Given the description of an element on the screen output the (x, y) to click on. 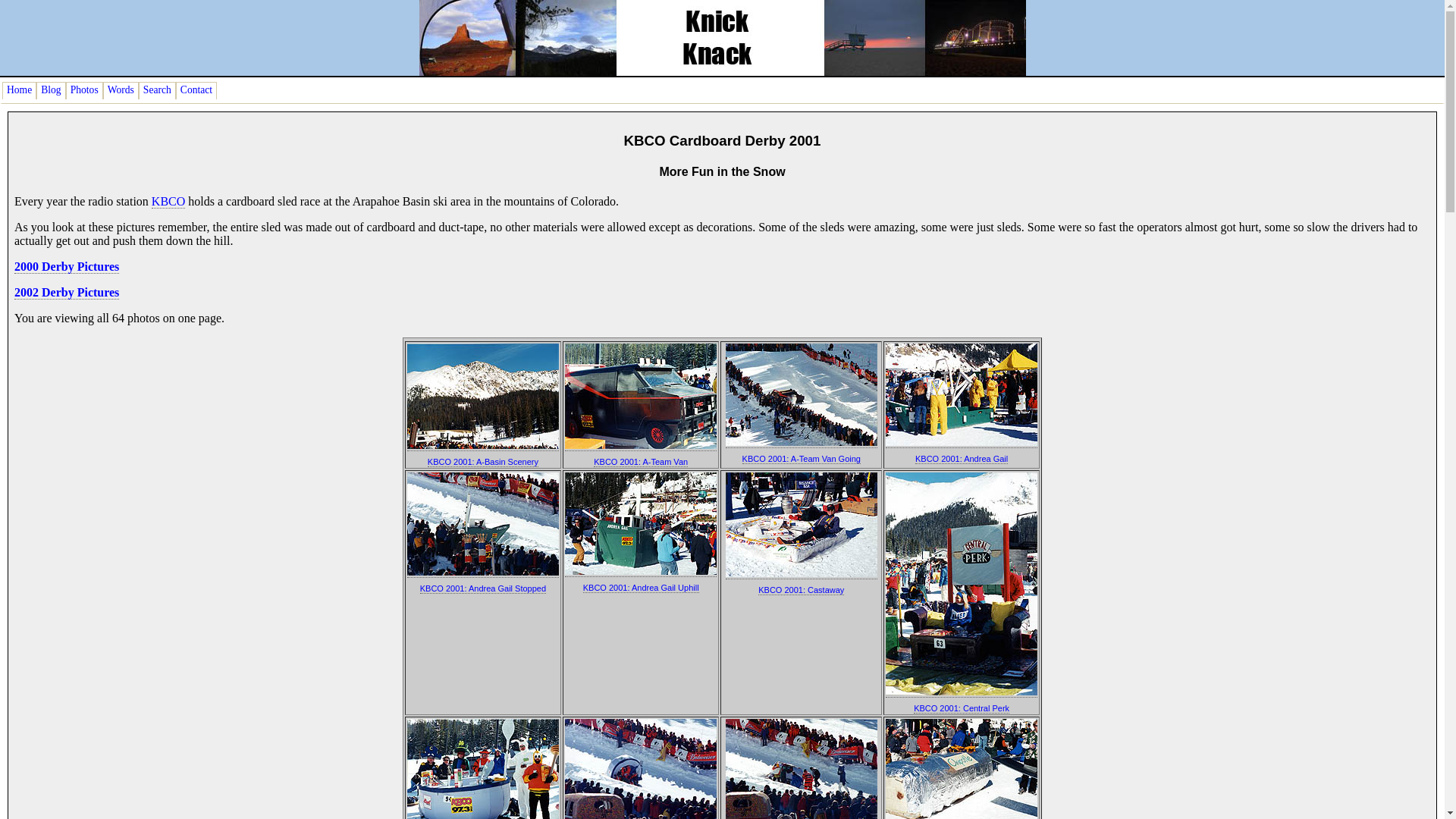
KBCO 2001: Central Perk (961, 708)
Blog (50, 90)
KBCO 2001: A-Team Van Going (801, 459)
Photos (84, 90)
Words (120, 90)
KBCO 2001: Castaway (801, 590)
KBCO 2001: Andrea Gail Stopped (483, 588)
KBCO (167, 201)
KBCO 2001: A-Basin Scenery (483, 461)
KBCO 2001: Andrea Gail Uphill (640, 587)
KBCO 2001: Andrea Gail (961, 459)
Search (157, 90)
2002 Derby Pictures (66, 292)
Contact (196, 90)
2000 Derby Pictures (66, 266)
